Given the description of an element on the screen output the (x, y) to click on. 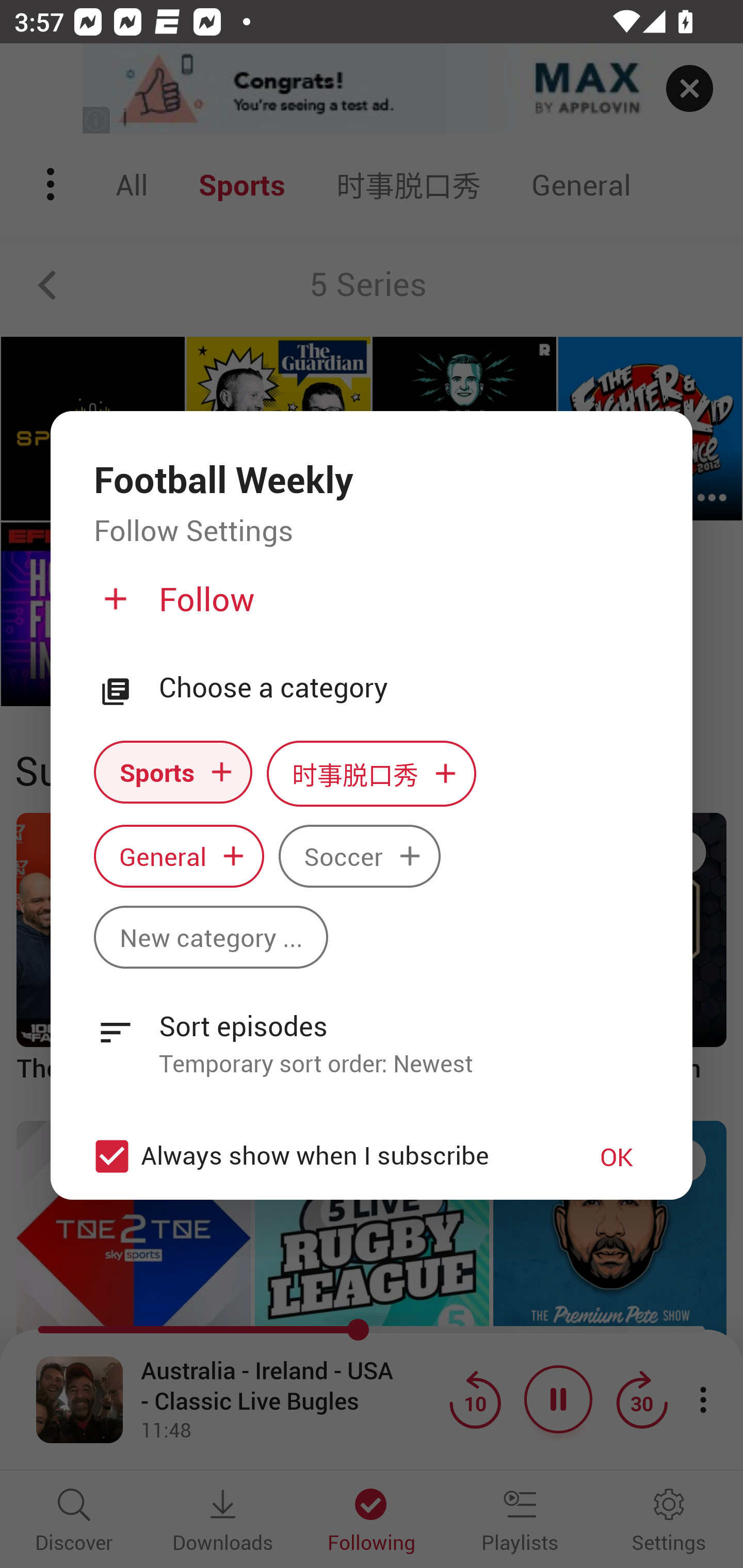
Follow (369, 606)
Choose a category (404, 688)
Sports (172, 771)
时事脱口秀 (371, 772)
General (178, 855)
Soccer (359, 855)
New category ... (210, 937)
Sort episodes Temporary sort order: Newest (371, 1033)
OK (616, 1156)
Always show when I subscribe (320, 1156)
